Given the description of an element on the screen output the (x, y) to click on. 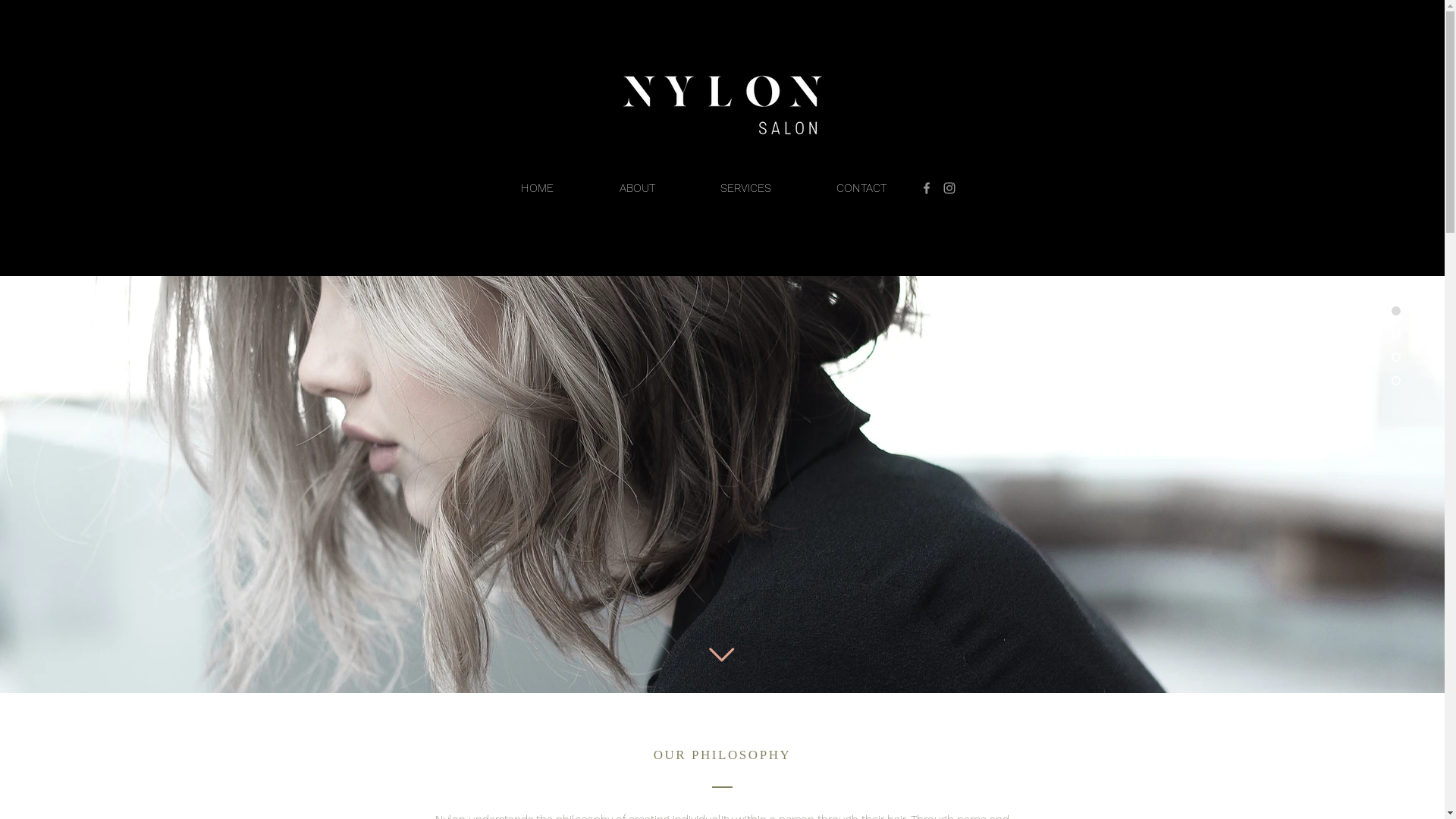
HOME Element type: text (537, 187)
SERVICES Element type: text (745, 187)
ABOUT Element type: text (636, 187)
CONTACT Element type: text (861, 187)
